Given the description of an element on the screen output the (x, y) to click on. 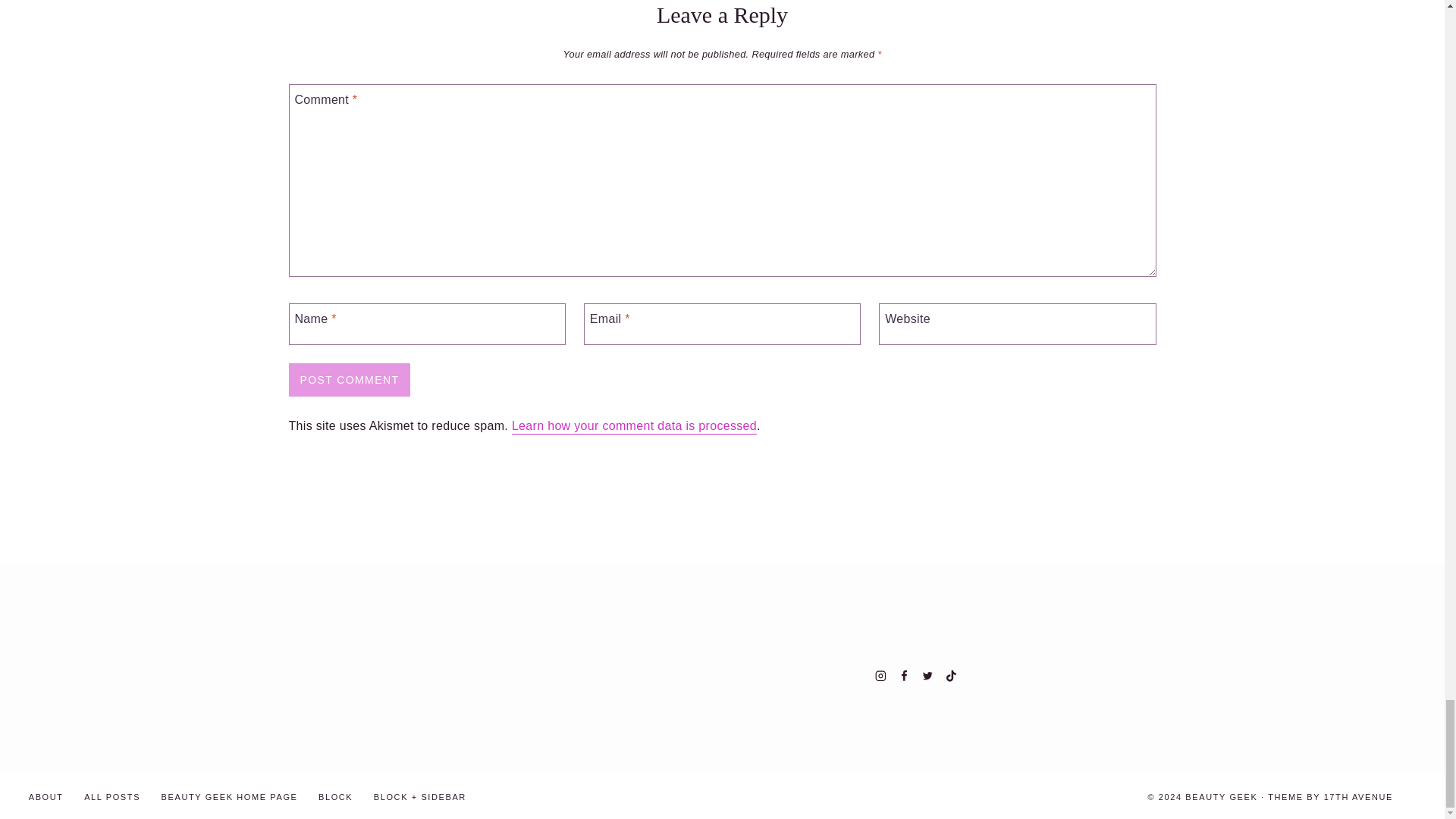
Post Comment (349, 379)
